Given the description of an element on the screen output the (x, y) to click on. 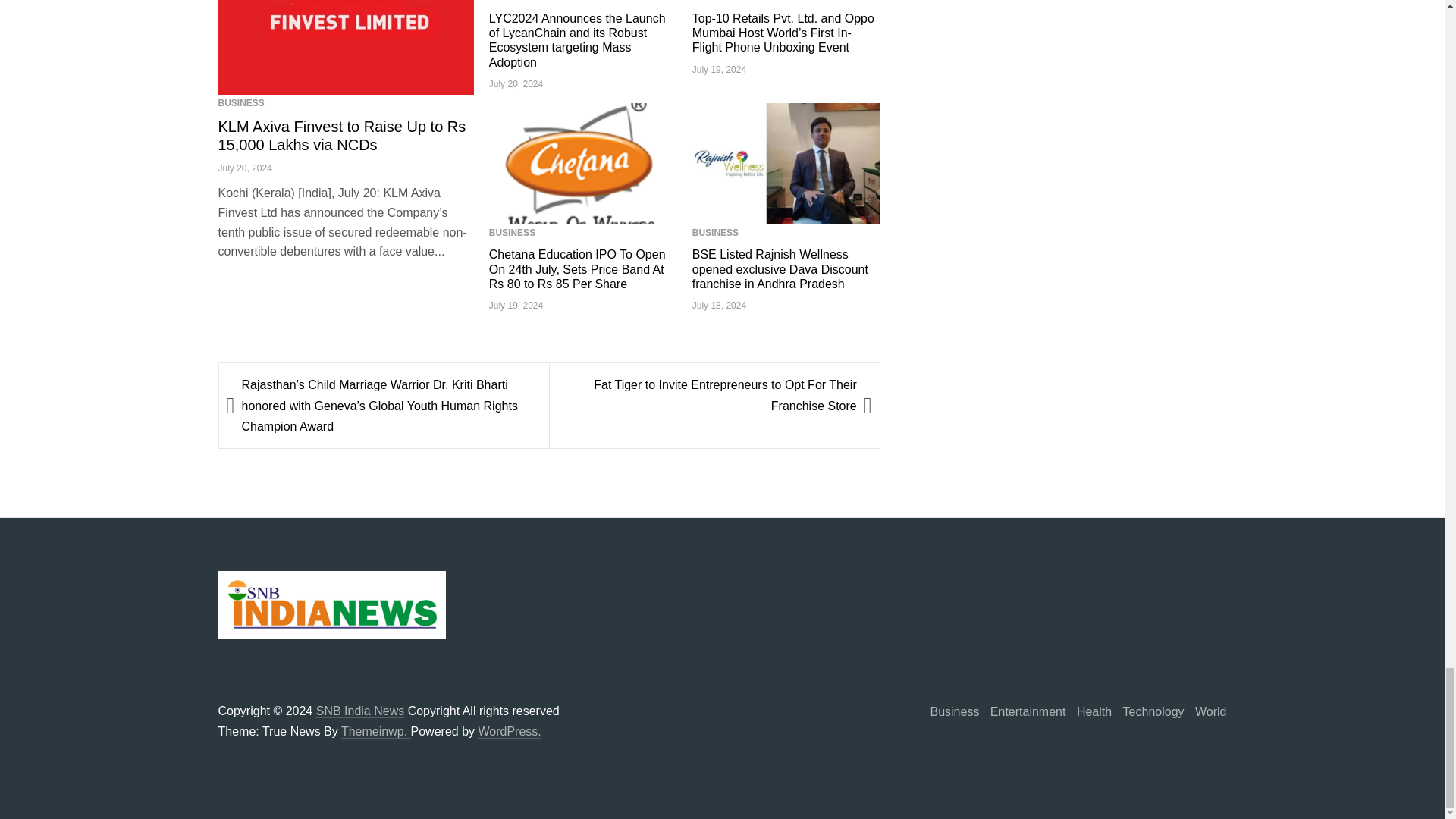
BUSINESS (241, 102)
July 20, 2024 (245, 167)
BUSINESS (512, 0)
KLM Axiva Finvest to Raise Up to Rs 15,000 Lakhs via NCDs (341, 135)
KLM Axiva Finvest to Raise Up to Rs 15,000 Lakhs via NCDs (341, 135)
KLM Axiva Finvest to Raise Up to Rs 15,000 Lakhs via NCDs (346, 47)
BUSINESS (715, 0)
Themeinwp (375, 731)
July 19, 2024 (719, 69)
